Given the description of an element on the screen output the (x, y) to click on. 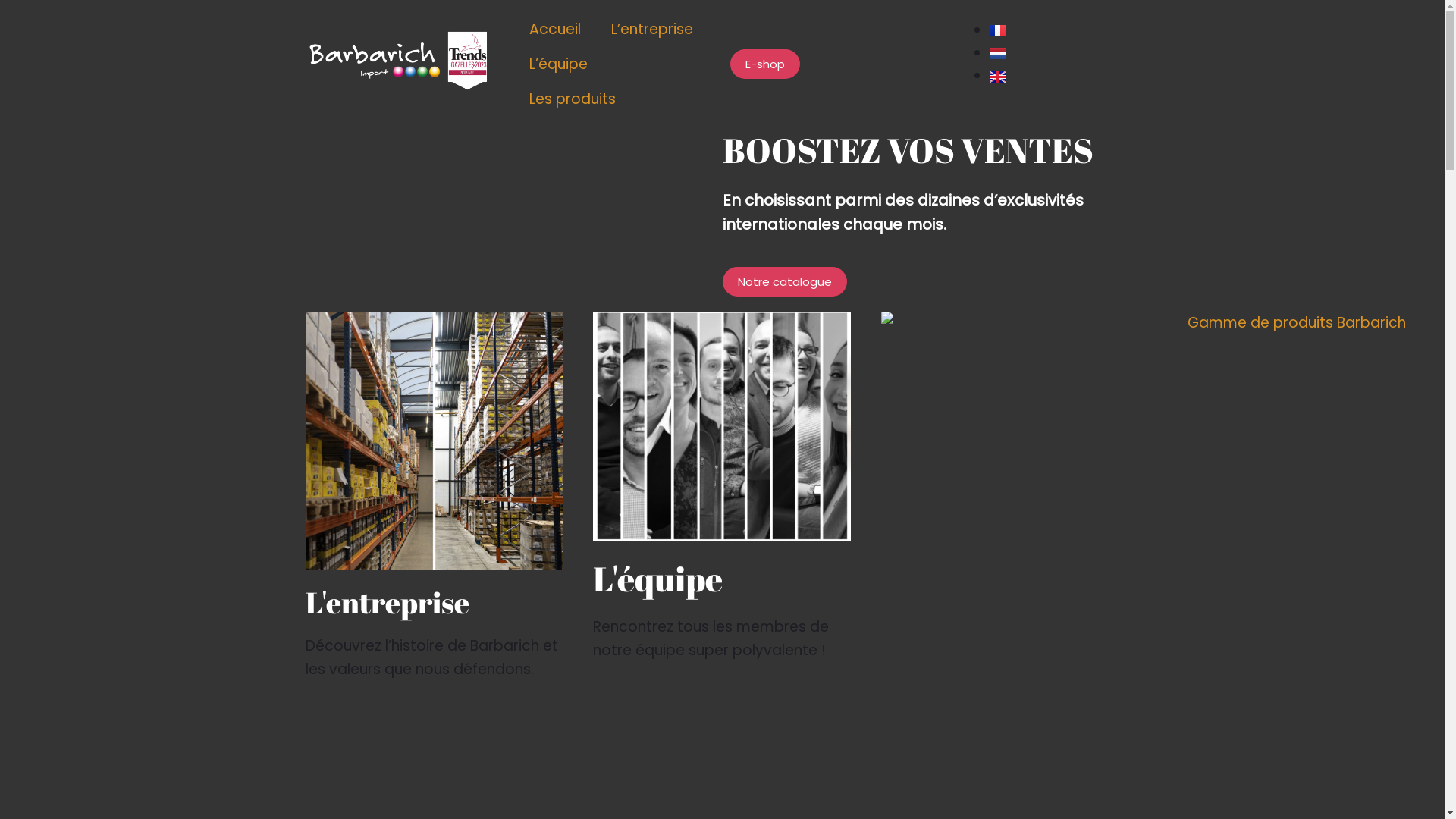
Notre catalogue Element type: text (783, 281)
Les produits Element type: text (572, 98)
E-shop Element type: text (764, 63)
Accueil Element type: text (555, 29)
